Given the description of an element on the screen output the (x, y) to click on. 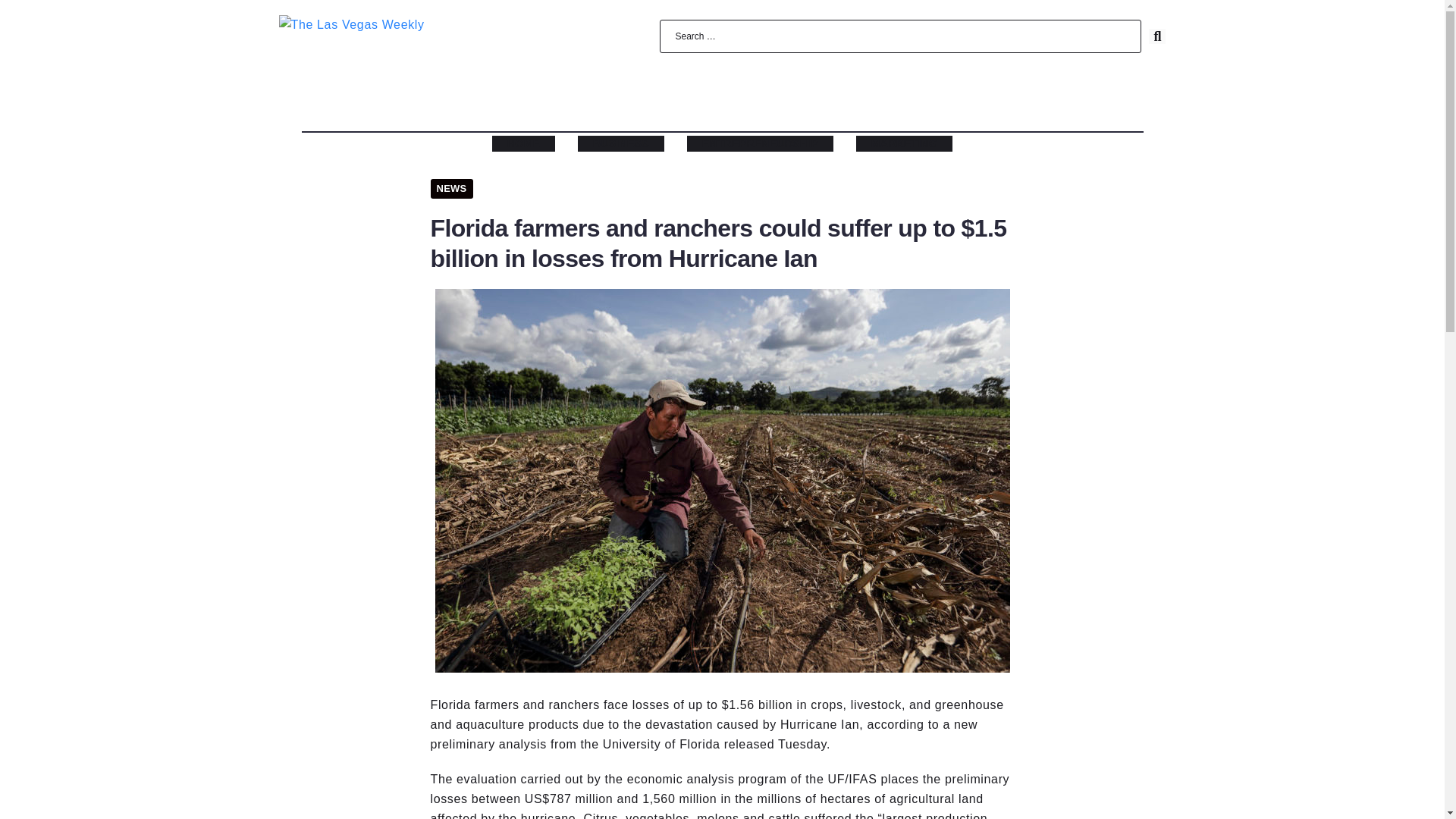
ENTREPRENEURSHIP (759, 143)
HOME (523, 143)
BUSINESS (620, 143)
NEWS (451, 189)
MARKETING (904, 143)
